Given the description of an element on the screen output the (x, y) to click on. 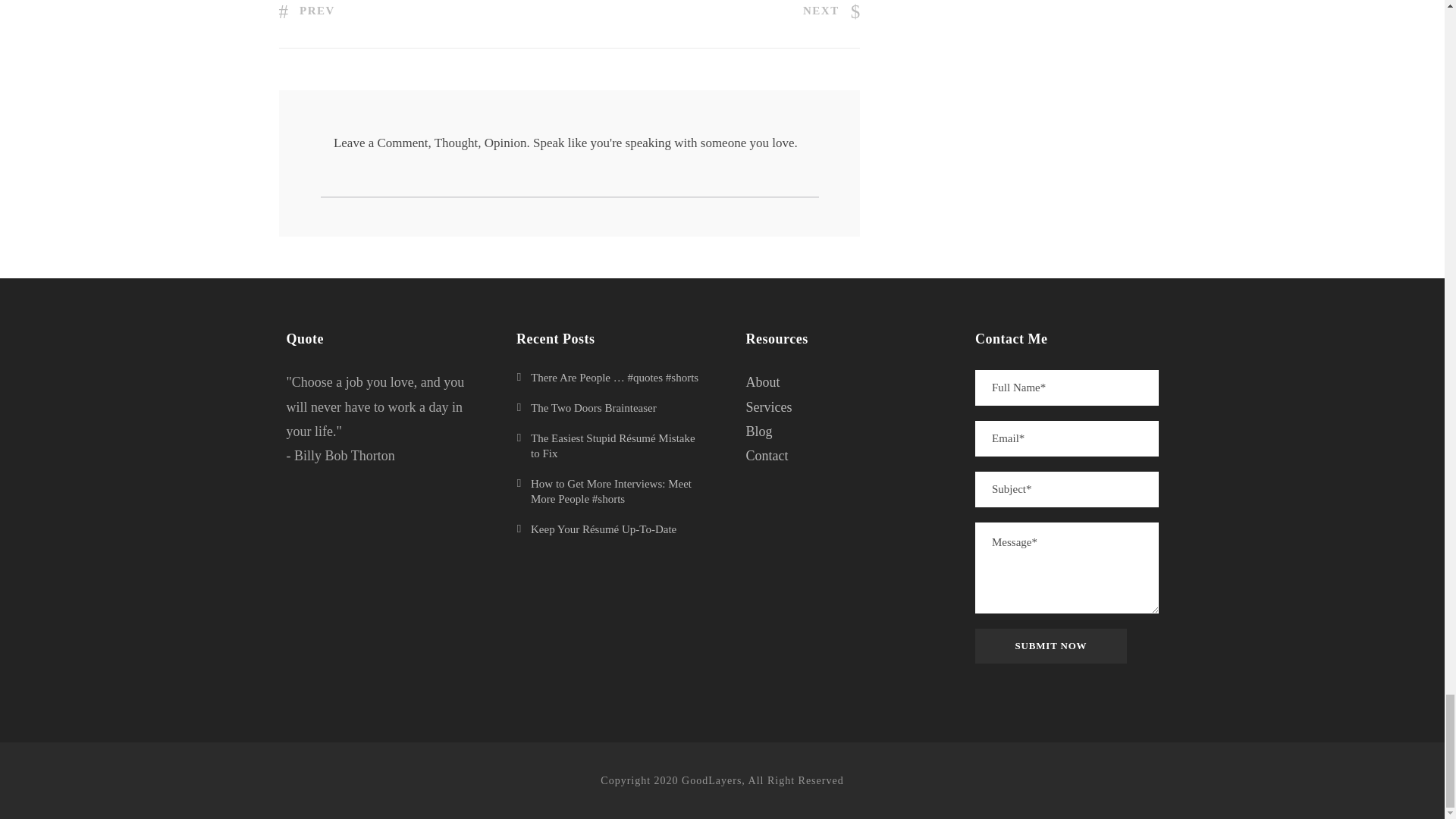
Submit Now (1050, 645)
